Given the description of an element on the screen output the (x, y) to click on. 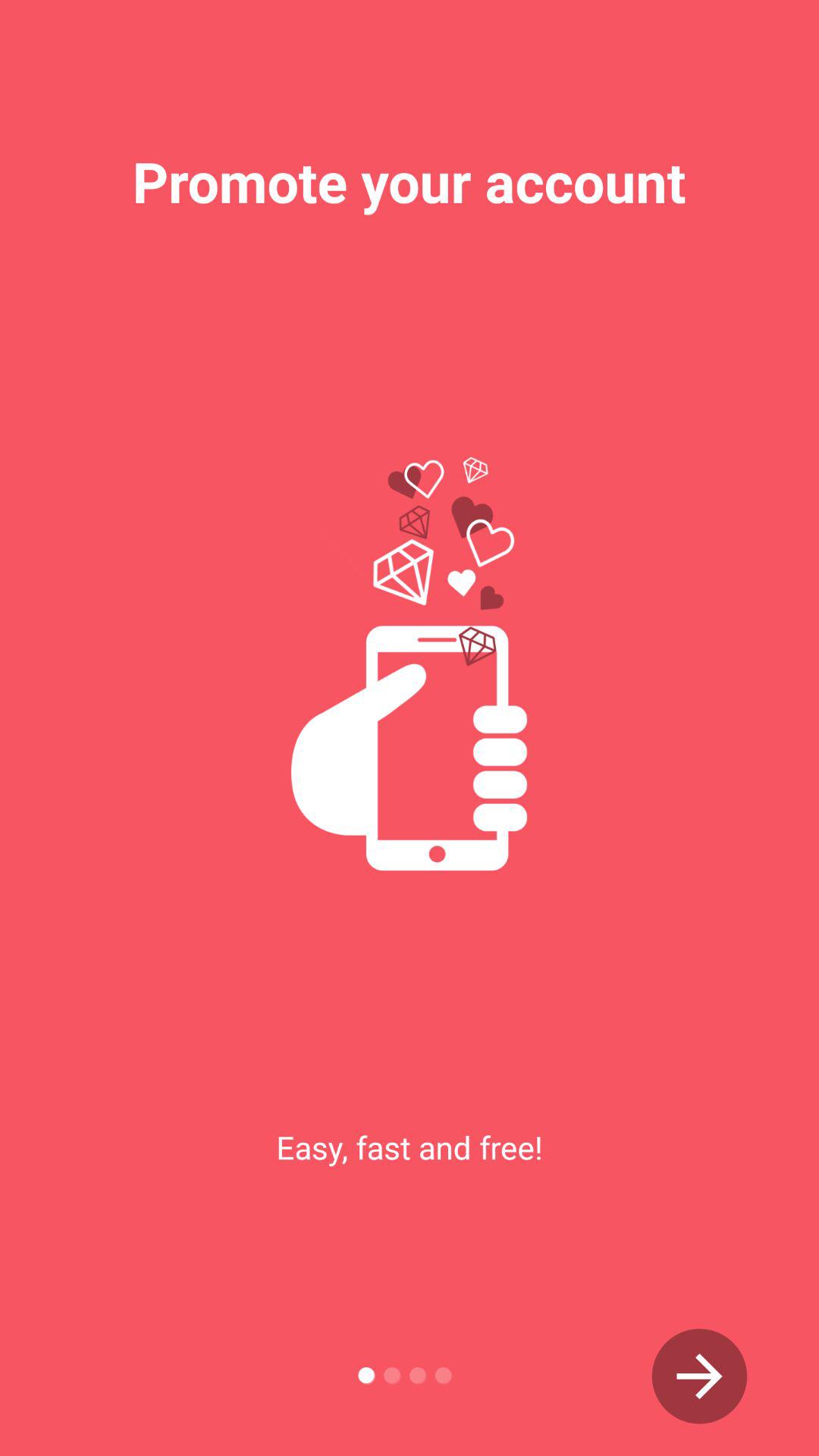
next button (699, 1376)
